Given the description of an element on the screen output the (x, y) to click on. 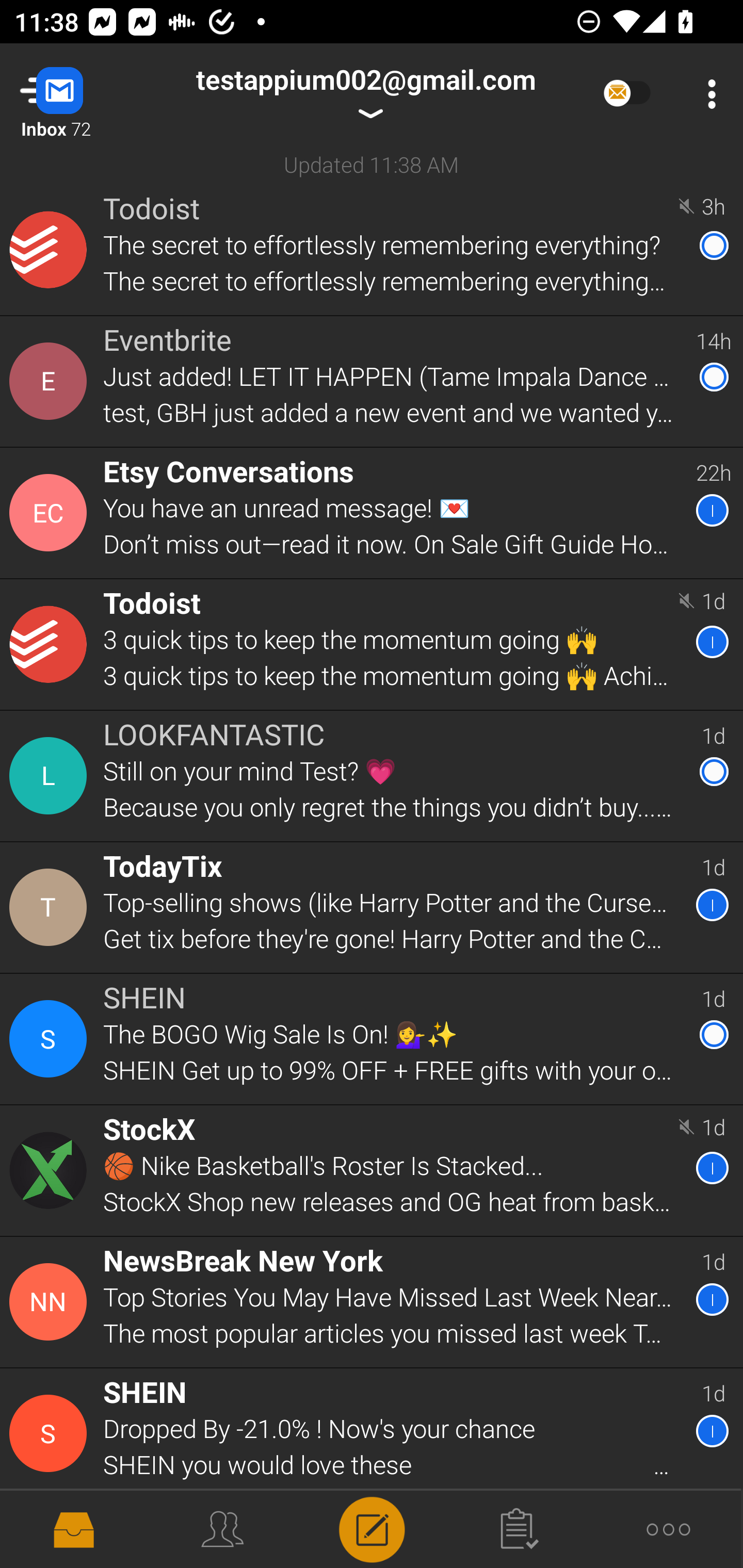
Navigate up (81, 93)
testappium002@gmail.com (365, 93)
More Options (706, 93)
Updated 11:38 AM (371, 164)
Contact Details (50, 250)
Contact Details (50, 381)
Contact Details (50, 513)
Contact Details (50, 644)
Contact Details (50, 776)
Contact Details (50, 907)
Contact Details (50, 1038)
Contact Details (50, 1170)
Contact Details (50, 1302)
Contact Details (50, 1433)
Compose (371, 1528)
